Given the description of an element on the screen output the (x, y) to click on. 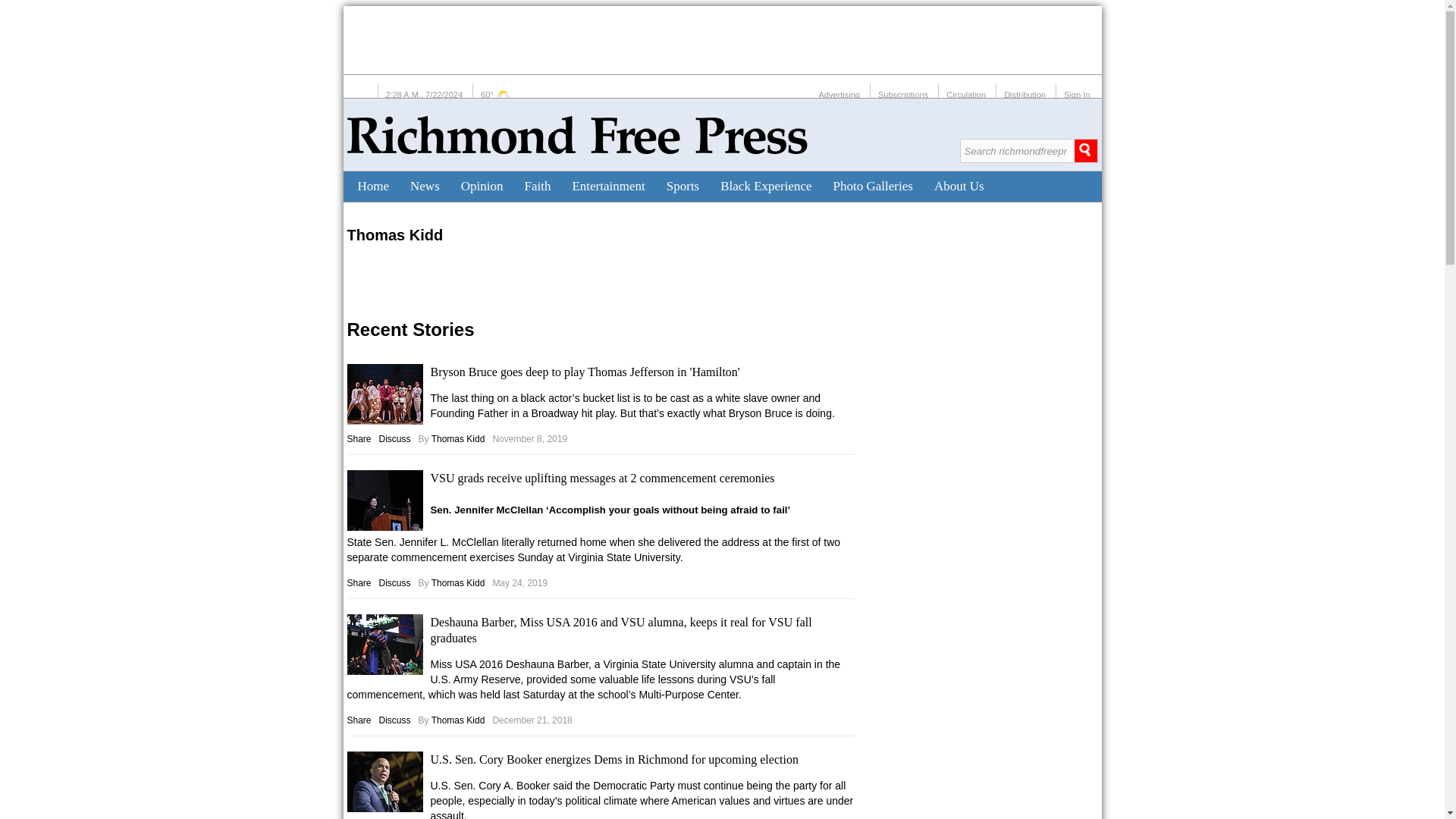
Advertising (839, 94)
Opinion (481, 186)
News (423, 186)
Search richmondfreepress.com (1013, 150)
Circulation (965, 94)
Subscriptions (902, 94)
Distribution (1024, 94)
Home (373, 186)
Sign In (1076, 94)
